Given the description of an element on the screen output the (x, y) to click on. 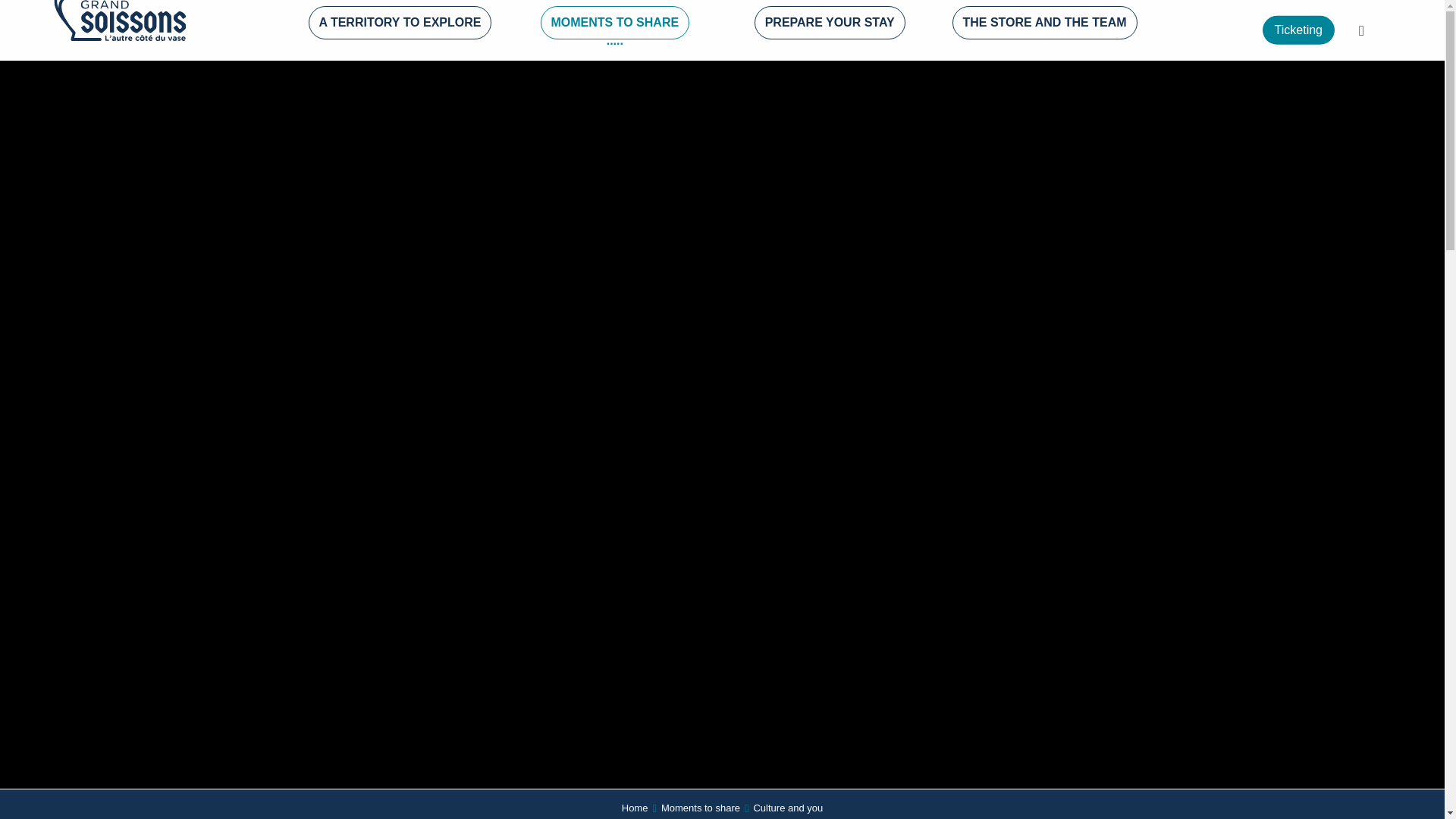
Ticketing (1298, 30)
Home (634, 808)
Ticketing (1298, 30)
MOMENTS TO SHARE (614, 23)
A TERRITORY TO EXPLORE (399, 23)
PREPARE YOUR STAY (829, 23)
Moments to share (700, 808)
